Given the description of an element on the screen output the (x, y) to click on. 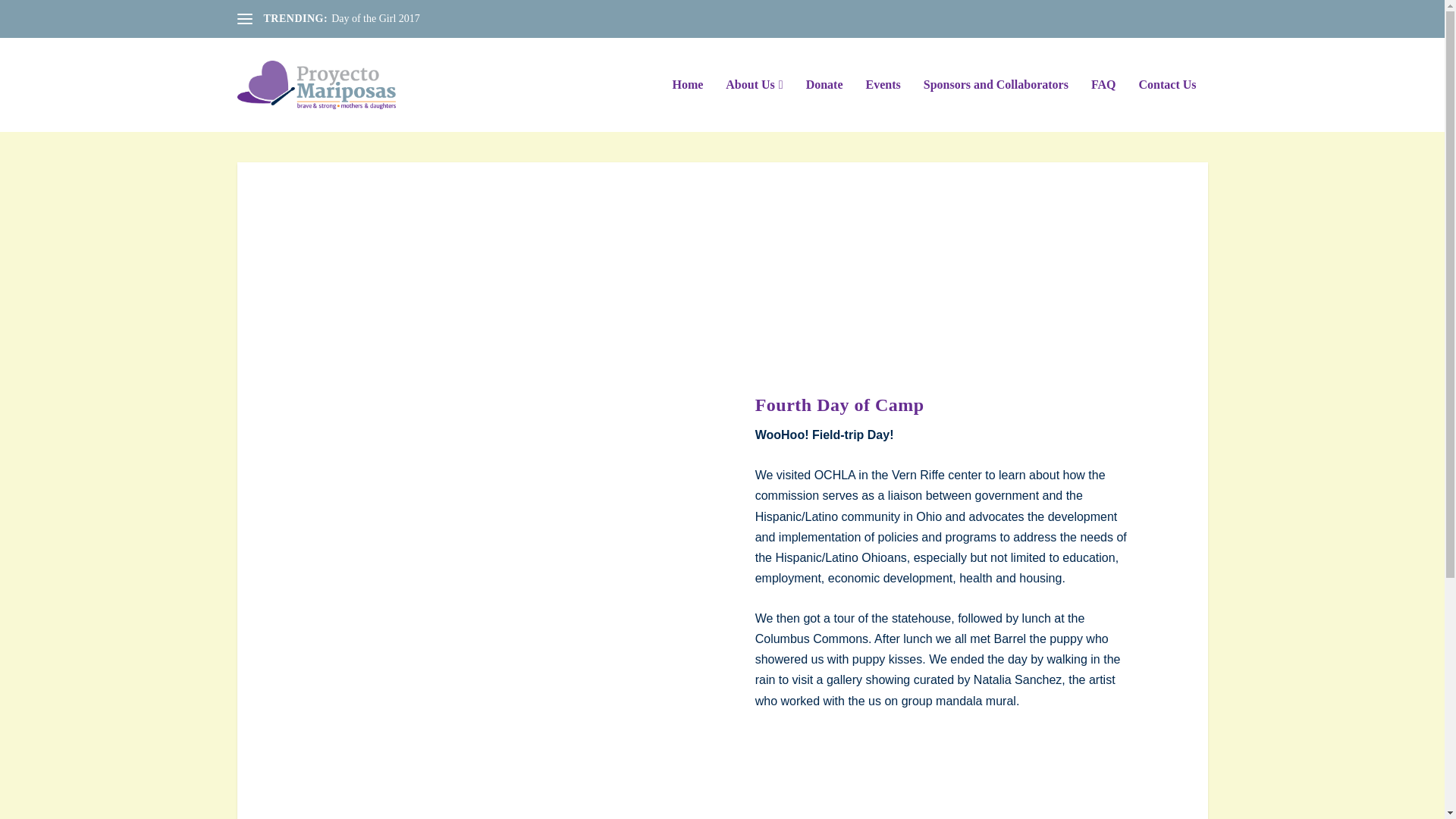
About us (754, 104)
Contact Us (1167, 104)
Sponsors and Collaborators (995, 104)
Day of the Girl 2017 (375, 18)
About Us (754, 104)
